Given the description of an element on the screen output the (x, y) to click on. 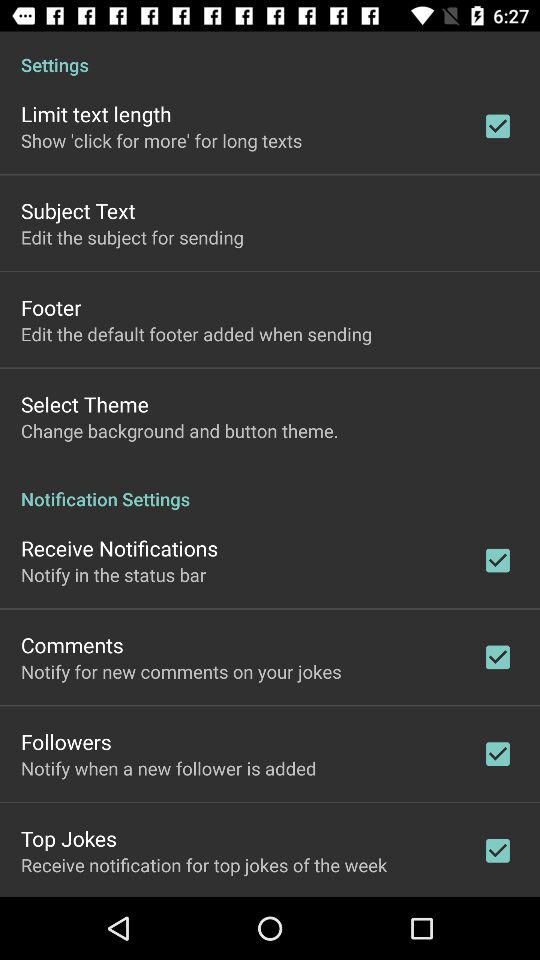
tap receive notifications (119, 547)
